Given the description of an element on the screen output the (x, y) to click on. 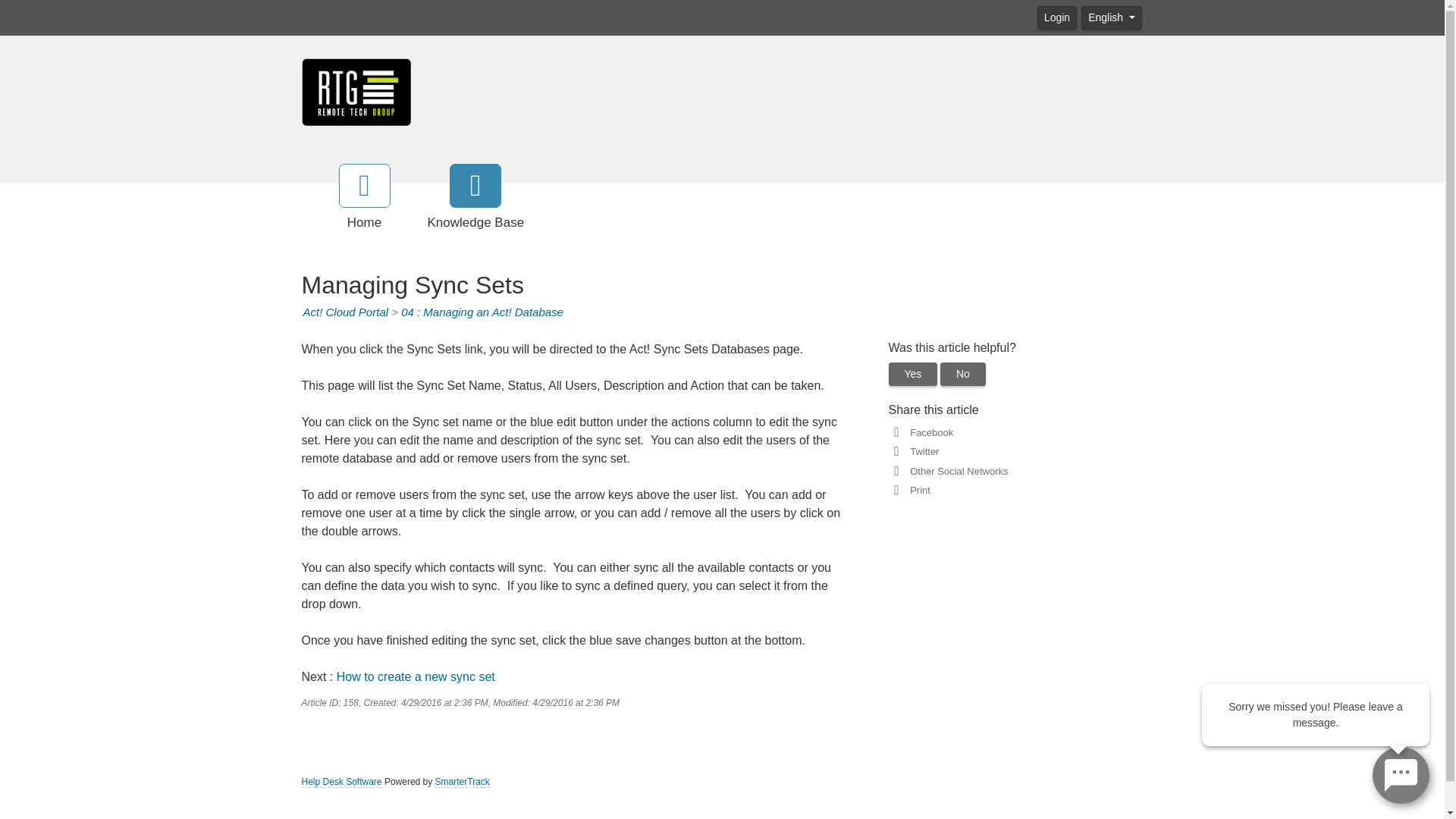
No (962, 373)
Act! Cloud Portal (345, 311)
Yes (912, 373)
Knowledge Base (476, 197)
Login (1056, 17)
Home (364, 197)
04 : Managing an Act! Database (482, 311)
RTG (356, 90)
English (1111, 17)
How to create a new sync set (415, 676)
Leave us a message! (1401, 774)
